Given the description of an element on the screen output the (x, y) to click on. 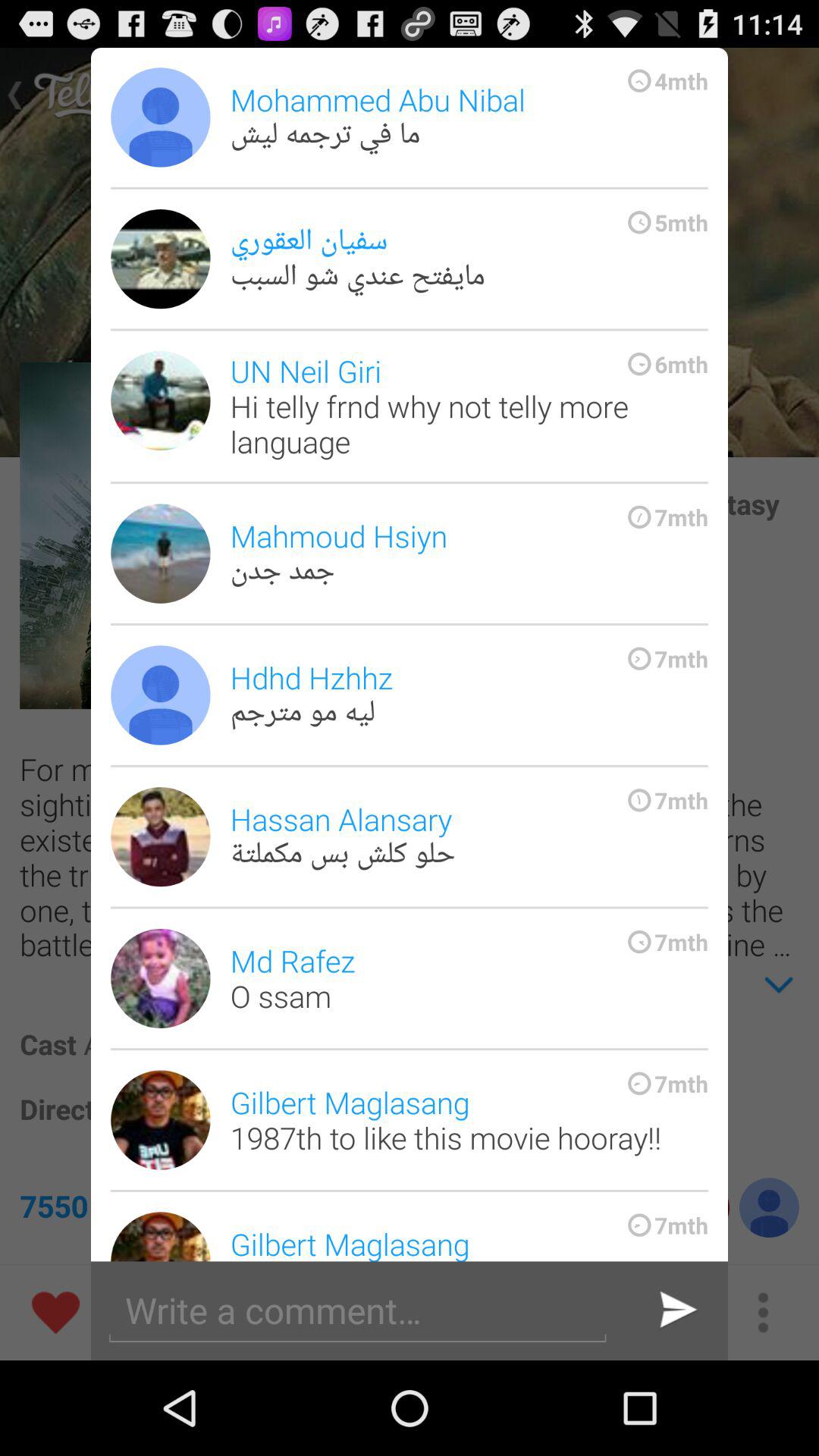
press the item below the un neil giri (469, 553)
